Given the description of an element on the screen output the (x, y) to click on. 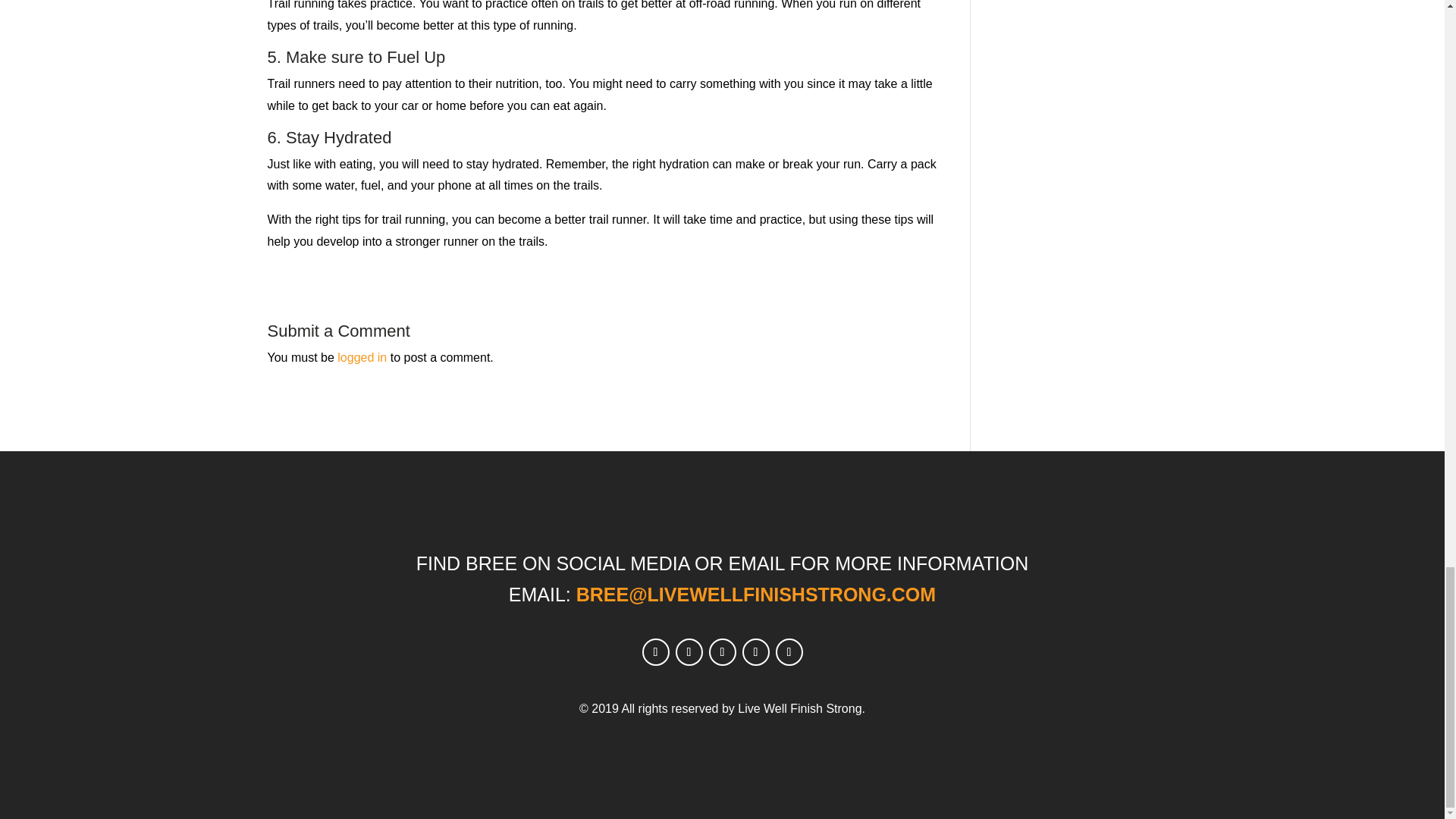
Follow on LinkedIn (788, 651)
Follow on Youtube (754, 651)
Follow on Facebook (655, 651)
Follow on X (688, 651)
Follow on Instagram (721, 651)
